Given the description of an element on the screen output the (x, y) to click on. 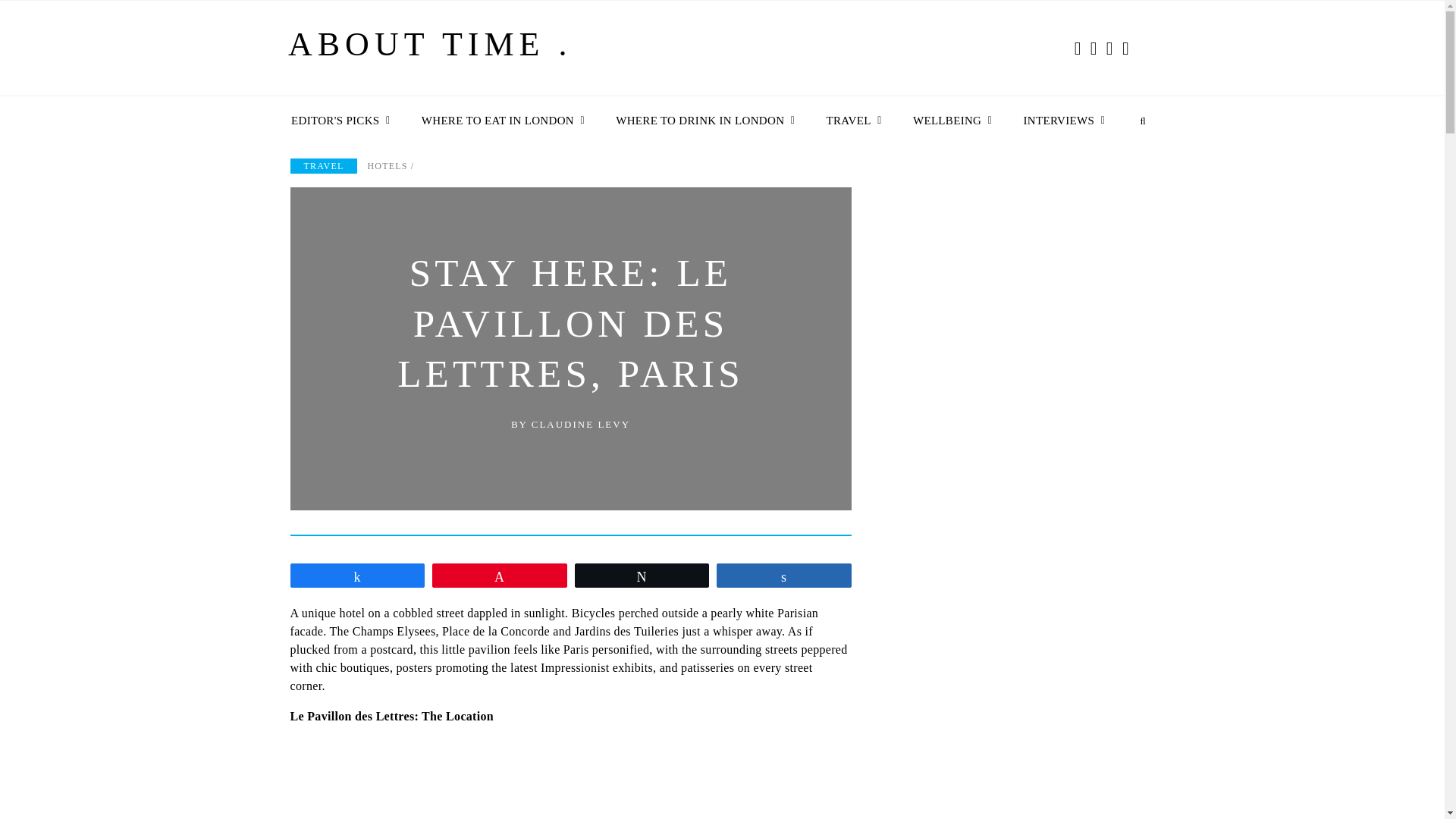
Go to the Hotels category archives. (386, 165)
Posts by Claudine Levy (580, 423)
ABOUT TIME . (430, 51)
EDITOR'S PICKS (337, 120)
WHERE TO EAT IN LONDON (499, 120)
WHERE TO DRINK IN LONDON (701, 120)
Go to the Travel category archives. (322, 165)
TRAVEL (849, 120)
